Given the description of an element on the screen output the (x, y) to click on. 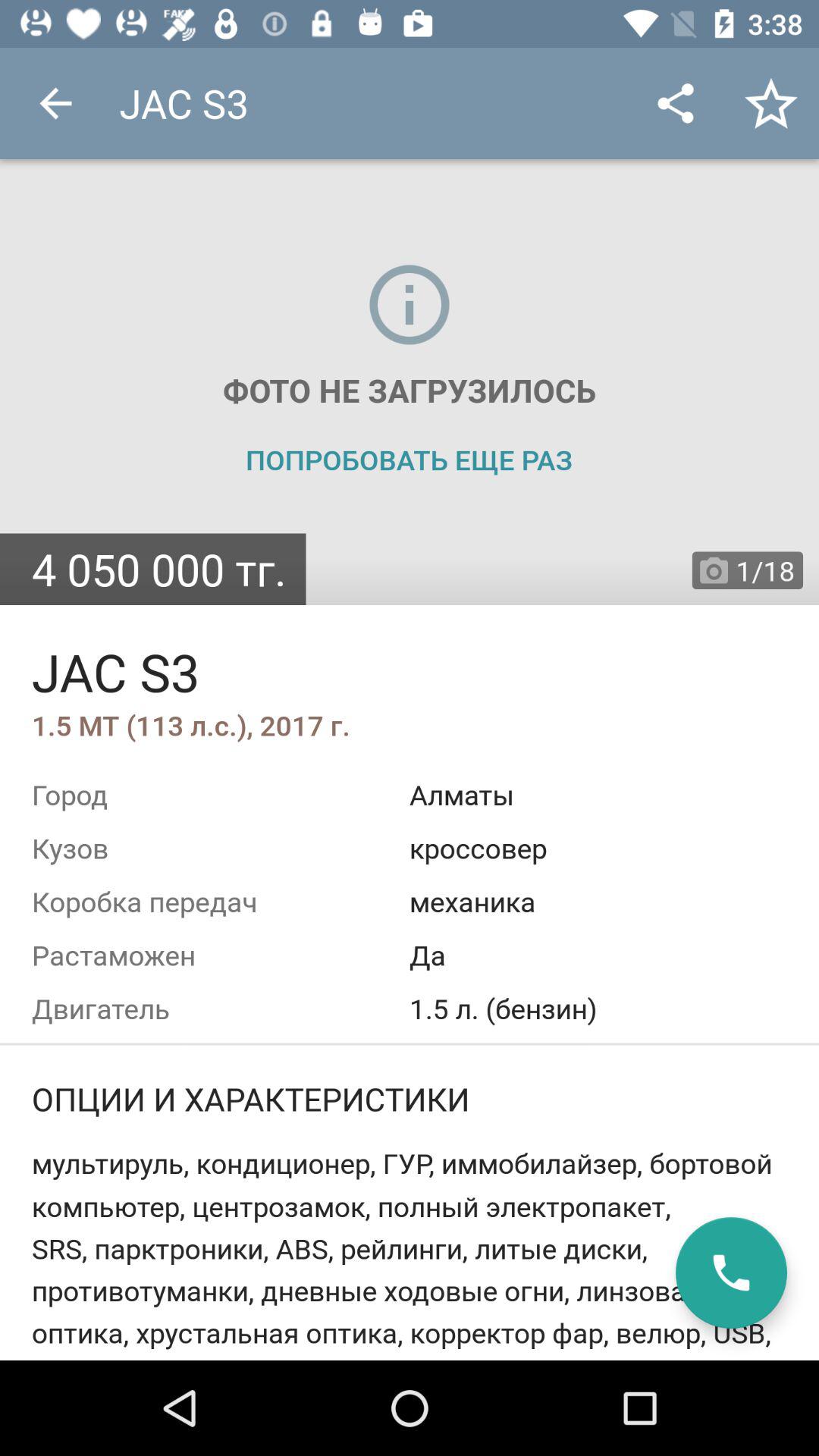
press the item to the left of jac s3 icon (55, 103)
